Given the description of an element on the screen output the (x, y) to click on. 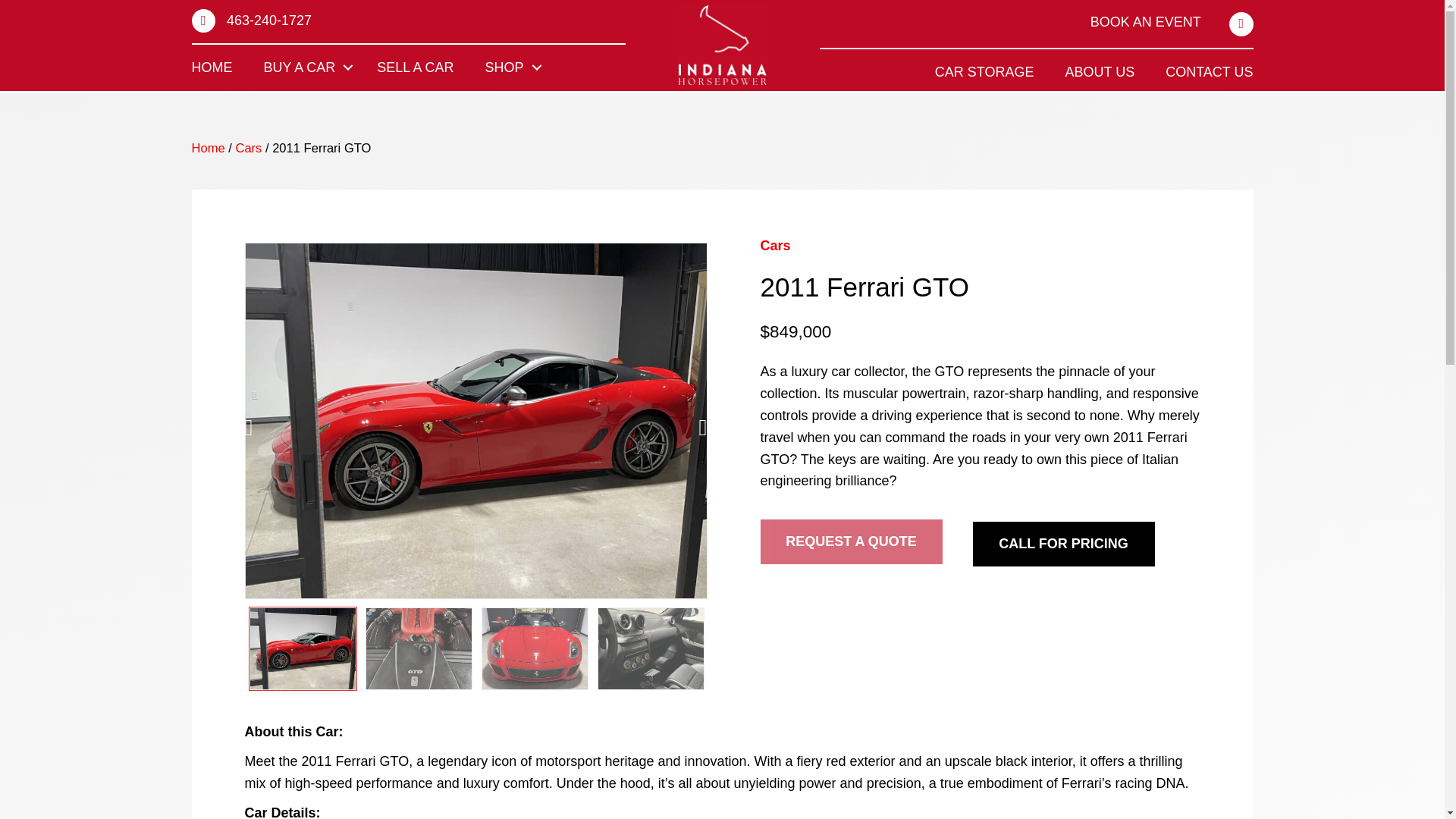
BUY A CAR (304, 67)
Request A Quote (851, 541)
ABOUT US (1099, 71)
CAR STORAGE (984, 71)
Indiana Horse Power Logo (722, 45)
HOME (211, 67)
CONTACT US (1209, 71)
SHOP (510, 67)
SELL A CAR (414, 67)
Cars (248, 147)
BOOK AN EVENT (1145, 21)
463-240-1727 (269, 20)
Home (207, 147)
